Given the description of an element on the screen output the (x, y) to click on. 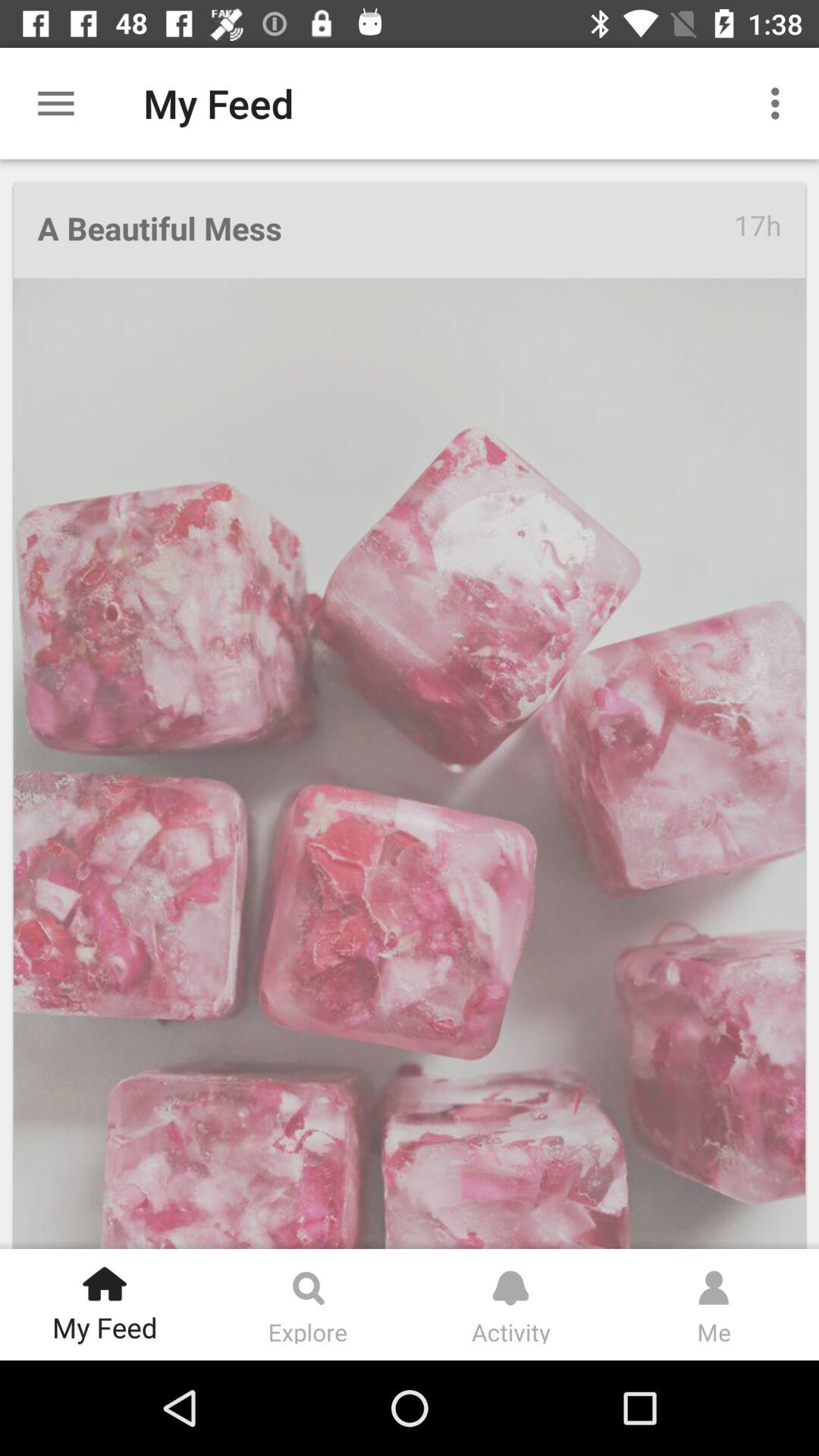
tap the icon to the left of my feed icon (55, 103)
